Given the description of an element on the screen output the (x, y) to click on. 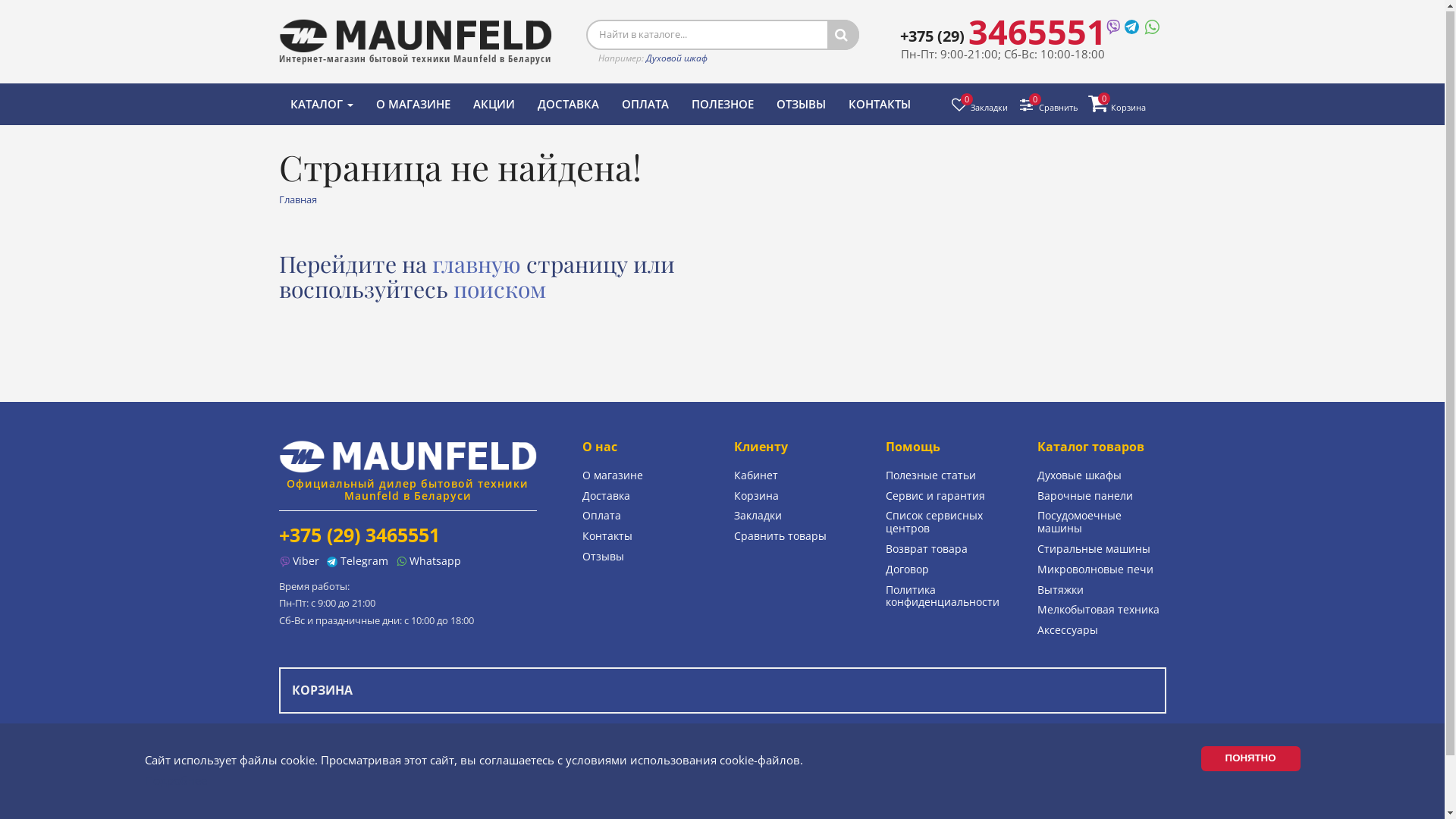
Whatsapp Element type: text (428, 561)
Viber Element type: hover (1111, 25)
Viber Element type: text (299, 561)
maunfeld-shop.by Element type: hover (407, 456)
Telegram Element type: text (356, 561)
<i class="fa fa-search"></i> Element type: text (842, 35)
0 Element type: text (1104, 99)
+375 (29) 3465551 Element type: text (1002, 36)
+375 (29) 3465551 Element type: text (359, 535)
